Given the description of an element on the screen output the (x, y) to click on. 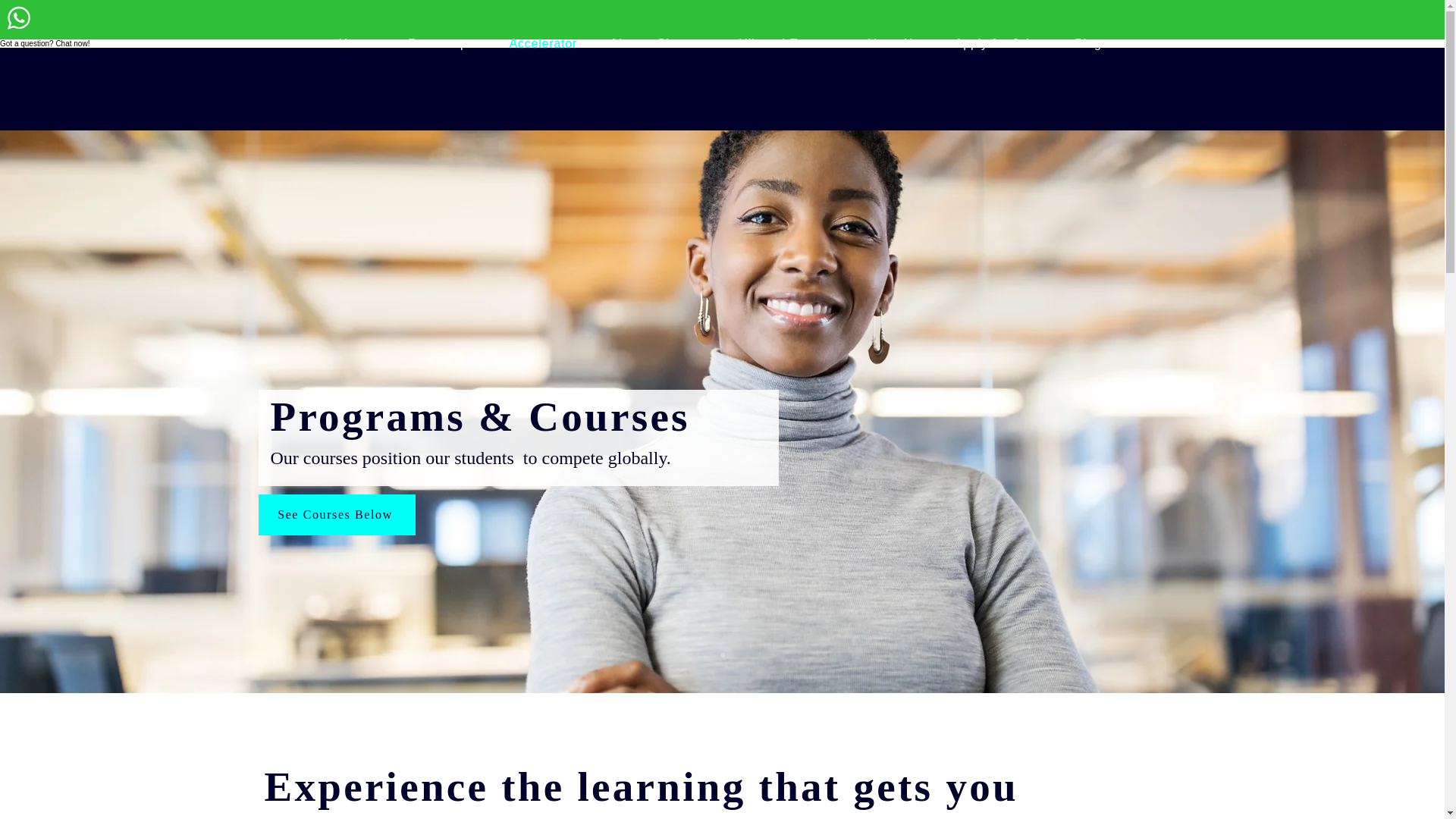
Apply for Jobs (999, 43)
See Courses Below (335, 514)
Hibreed Events (786, 43)
Accelerator (545, 43)
Home (357, 43)
About Us (894, 43)
Master Classes (660, 43)
Bootcamps (443, 43)
Blog (1090, 43)
